Given the description of an element on the screen output the (x, y) to click on. 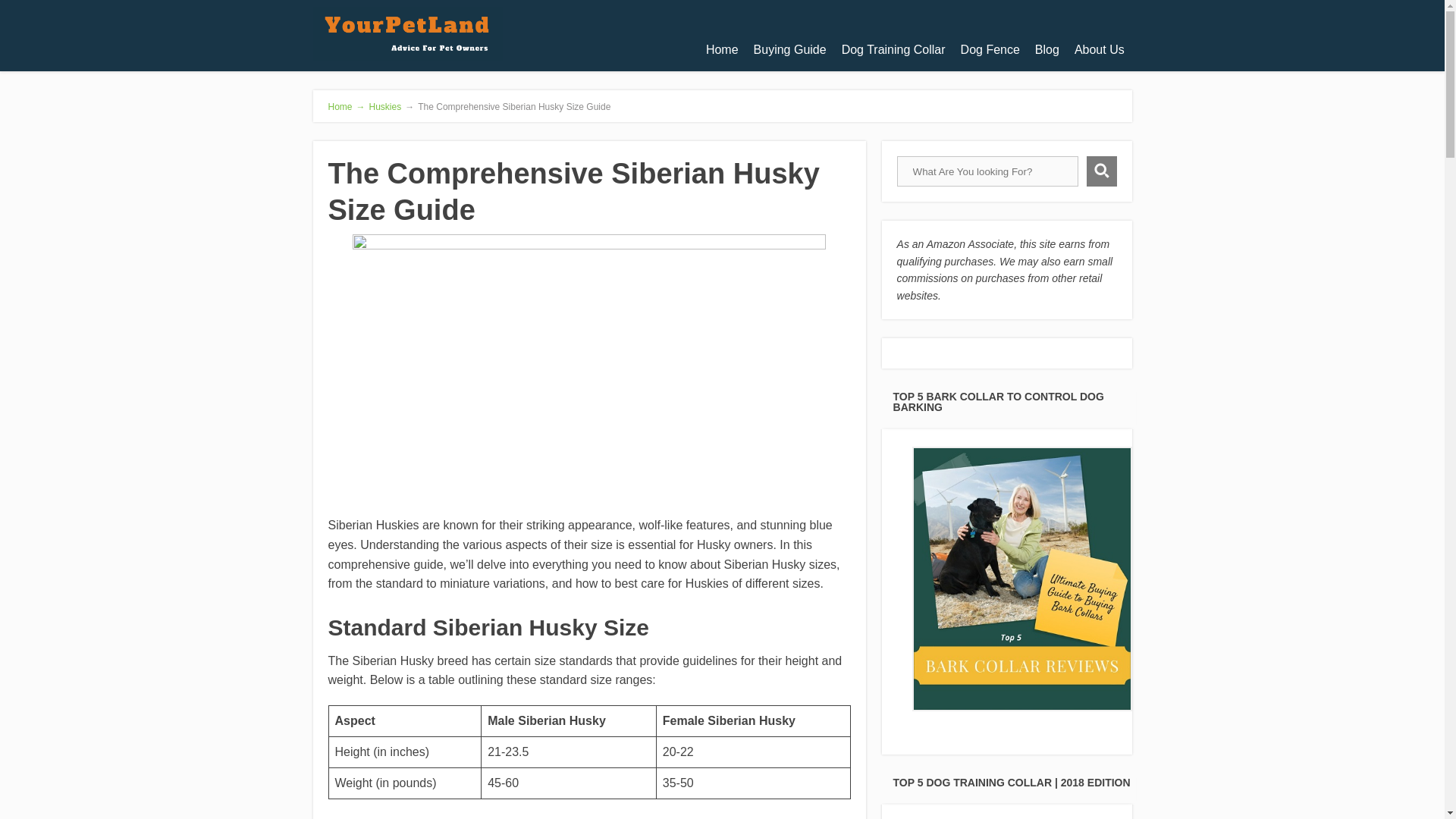
Home (721, 50)
About Us (1099, 50)
Buying Guide (789, 50)
Blog (1047, 50)
Dog Training Collar (893, 50)
Huskies (385, 106)
Dog Fence (990, 50)
